Given the description of an element on the screen output the (x, y) to click on. 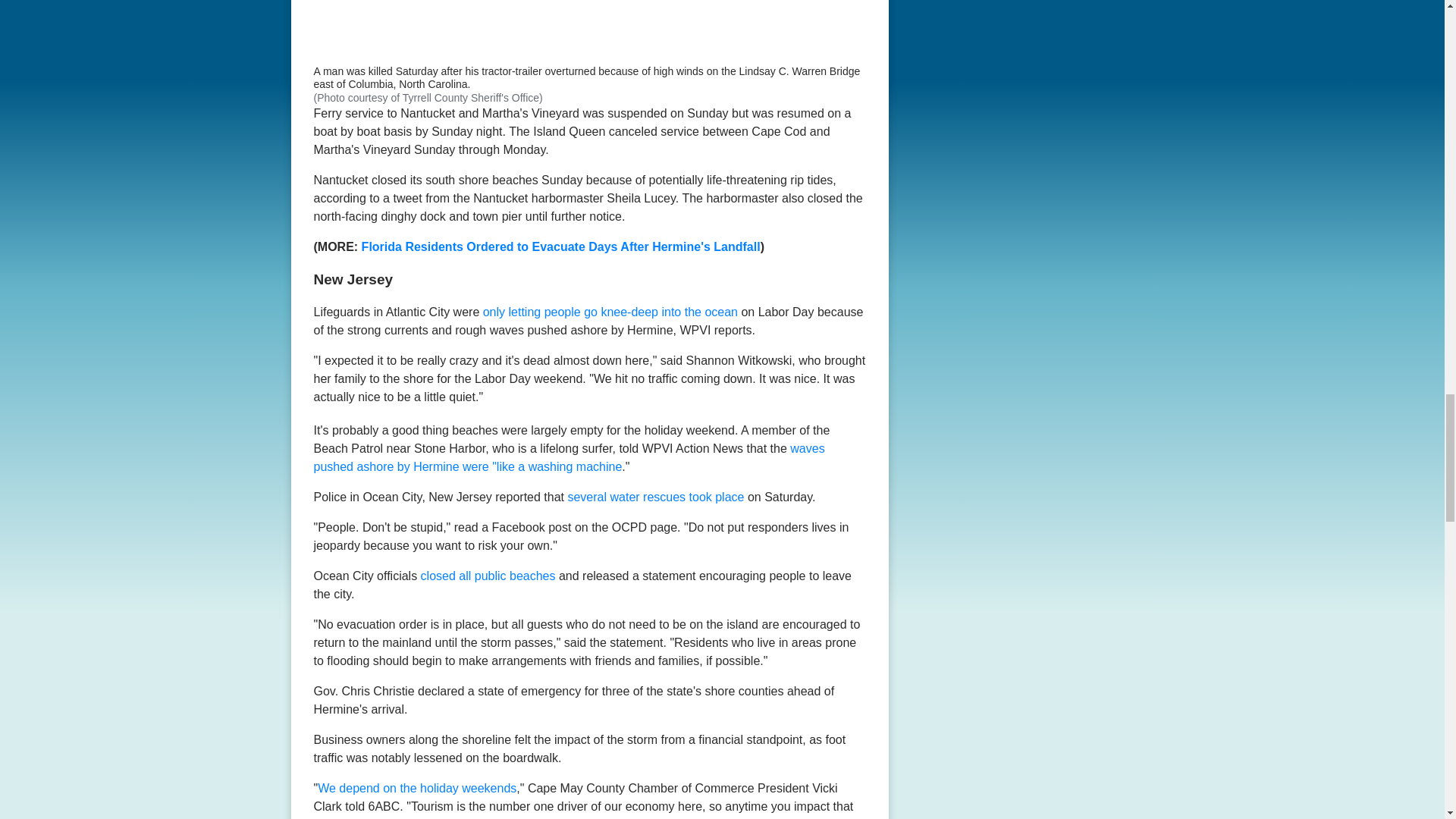
only letting people go knee-deep into the ocean (610, 311)
closed all public beaches (488, 575)
We depend on the holiday weekends (416, 788)
several water rescues took place (655, 496)
waves pushed ashore by Hermine were "like a washing machine (569, 457)
